Given the description of an element on the screen output the (x, y) to click on. 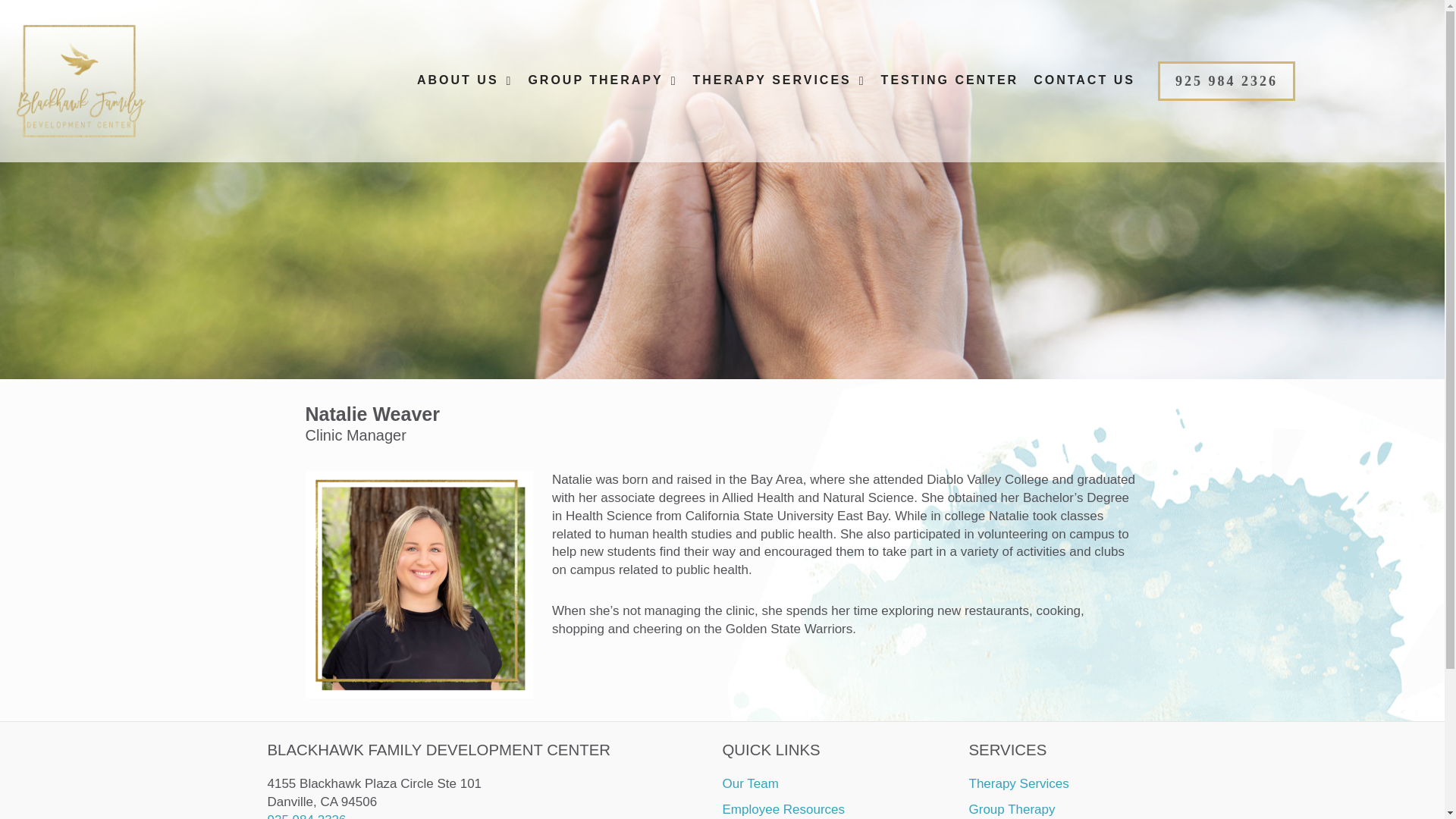
CONTACT US (1084, 80)
ABOUT US (464, 80)
GROUP THERAPY (601, 80)
925 984 2326 (1226, 80)
THERAPY SERVICES (779, 80)
TESTING CENTER (949, 80)
